Given the description of an element on the screen output the (x, y) to click on. 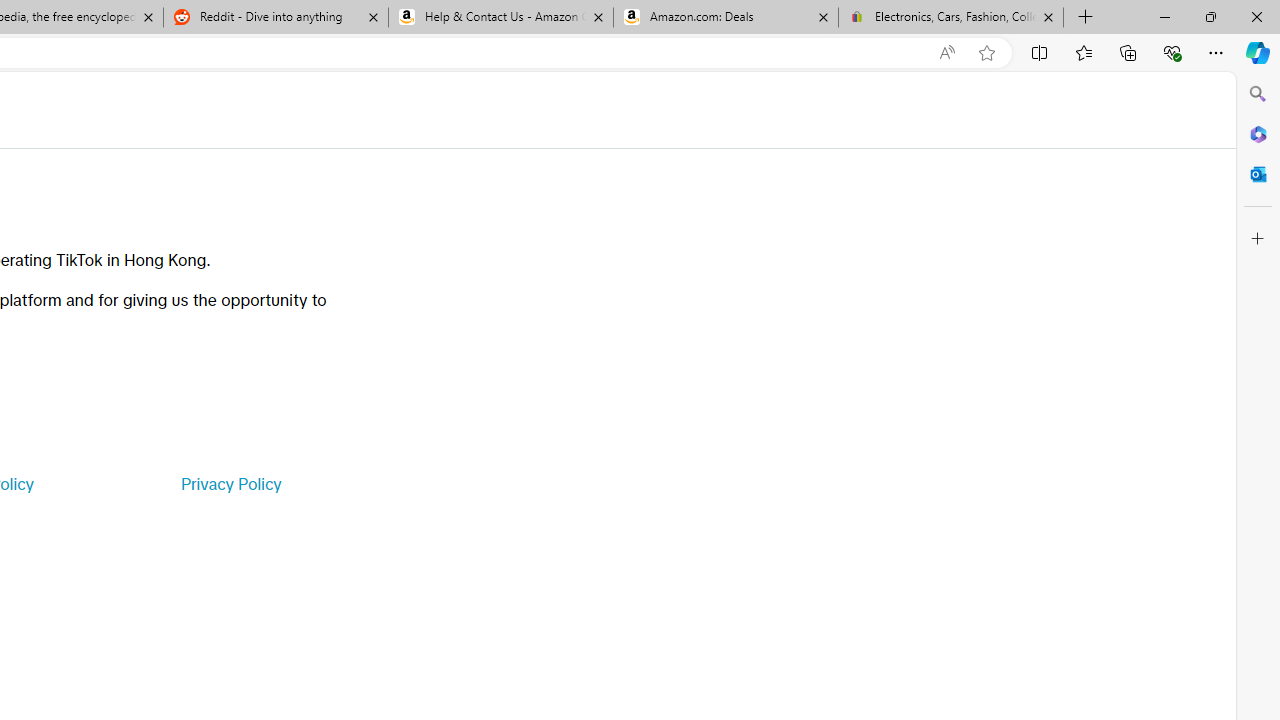
Reddit - Dive into anything (275, 17)
Amazon.com: Deals (726, 17)
Electronics, Cars, Fashion, Collectibles & More | eBay (950, 17)
Help & Contact Us - Amazon Customer Service (501, 17)
